Given the description of an element on the screen output the (x, y) to click on. 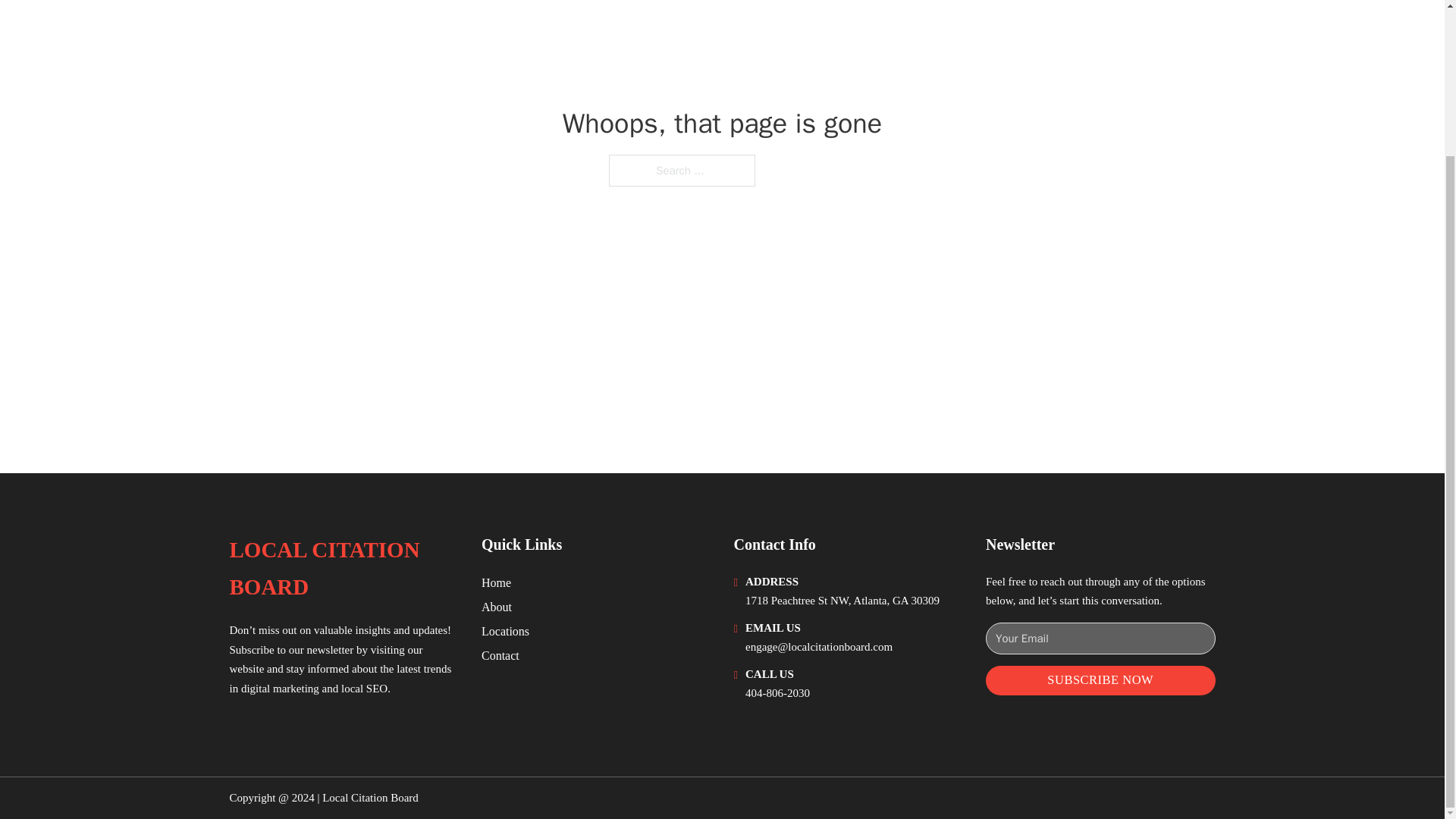
LOCAL CITATION BOARD (343, 568)
404-806-2030 (777, 693)
Contact (500, 655)
Locations (505, 630)
About (496, 607)
SUBSCRIBE NOW (1100, 680)
Home (496, 582)
